Given the description of an element on the screen output the (x, y) to click on. 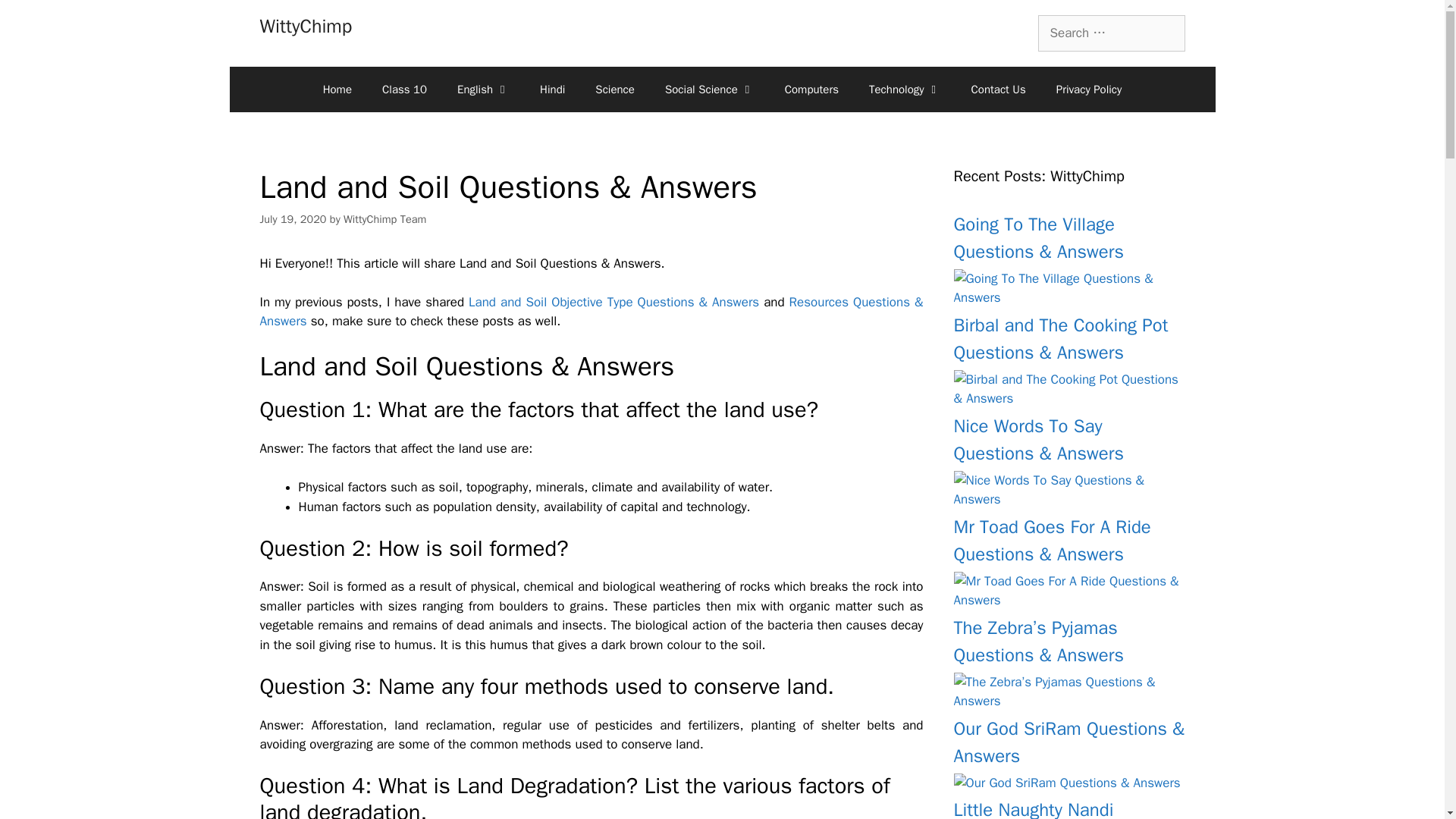
Class 10 (404, 89)
WittyChimp (305, 25)
Search for: (1110, 33)
Privacy Policy (1089, 89)
View all posts by WittyChimp Team (384, 219)
Contact Us (998, 89)
Social Science (709, 89)
Hindi (551, 89)
Science (614, 89)
WittyChimp Team (384, 219)
